Given the description of an element on the screen output the (x, y) to click on. 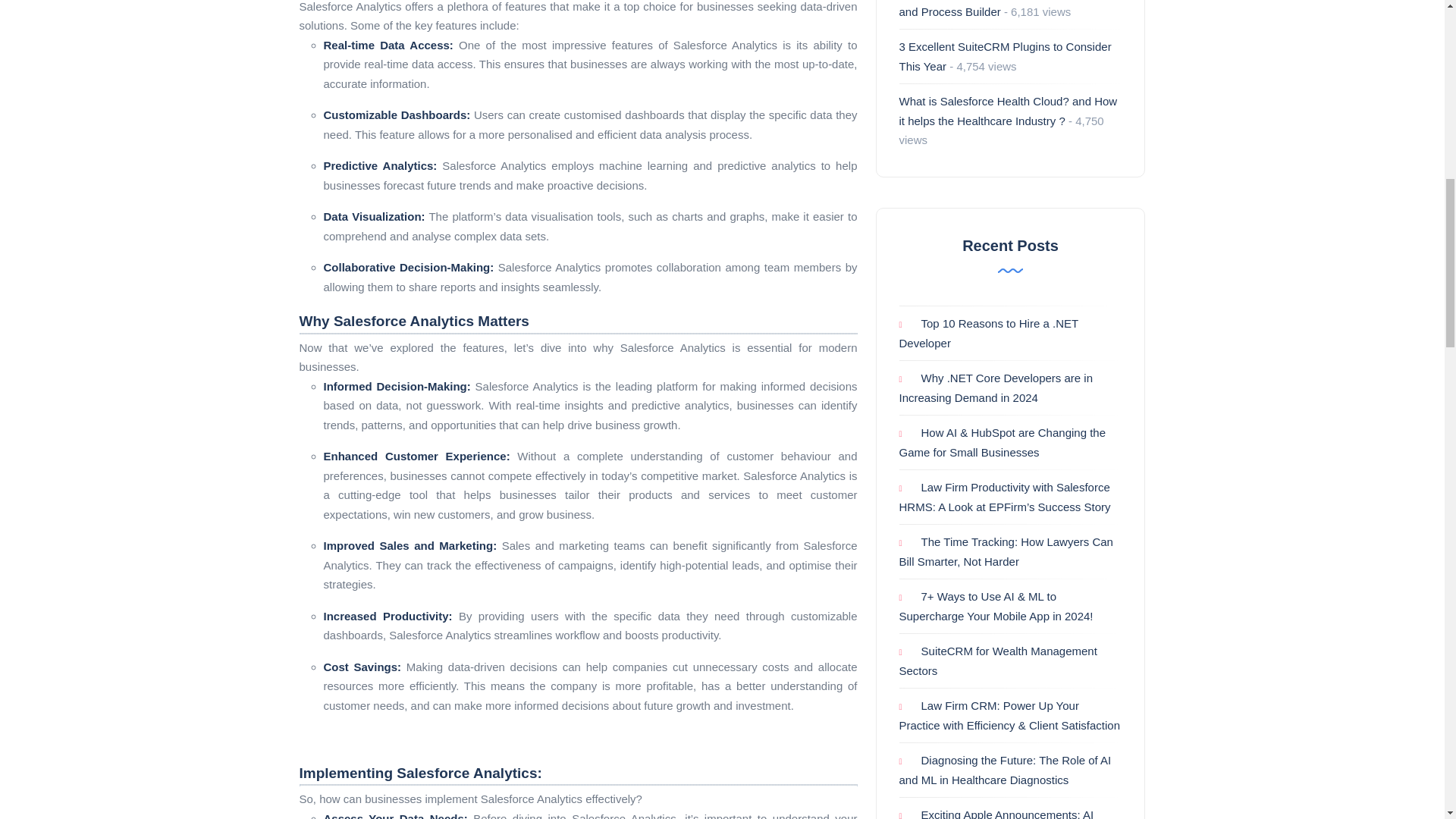
Salesforce to Discontinue Workflow Rules and Process Builder (1004, 9)
3 Excellent SuiteCRM Plugins to Consider This Year (1005, 56)
